Given the description of an element on the screen output the (x, y) to click on. 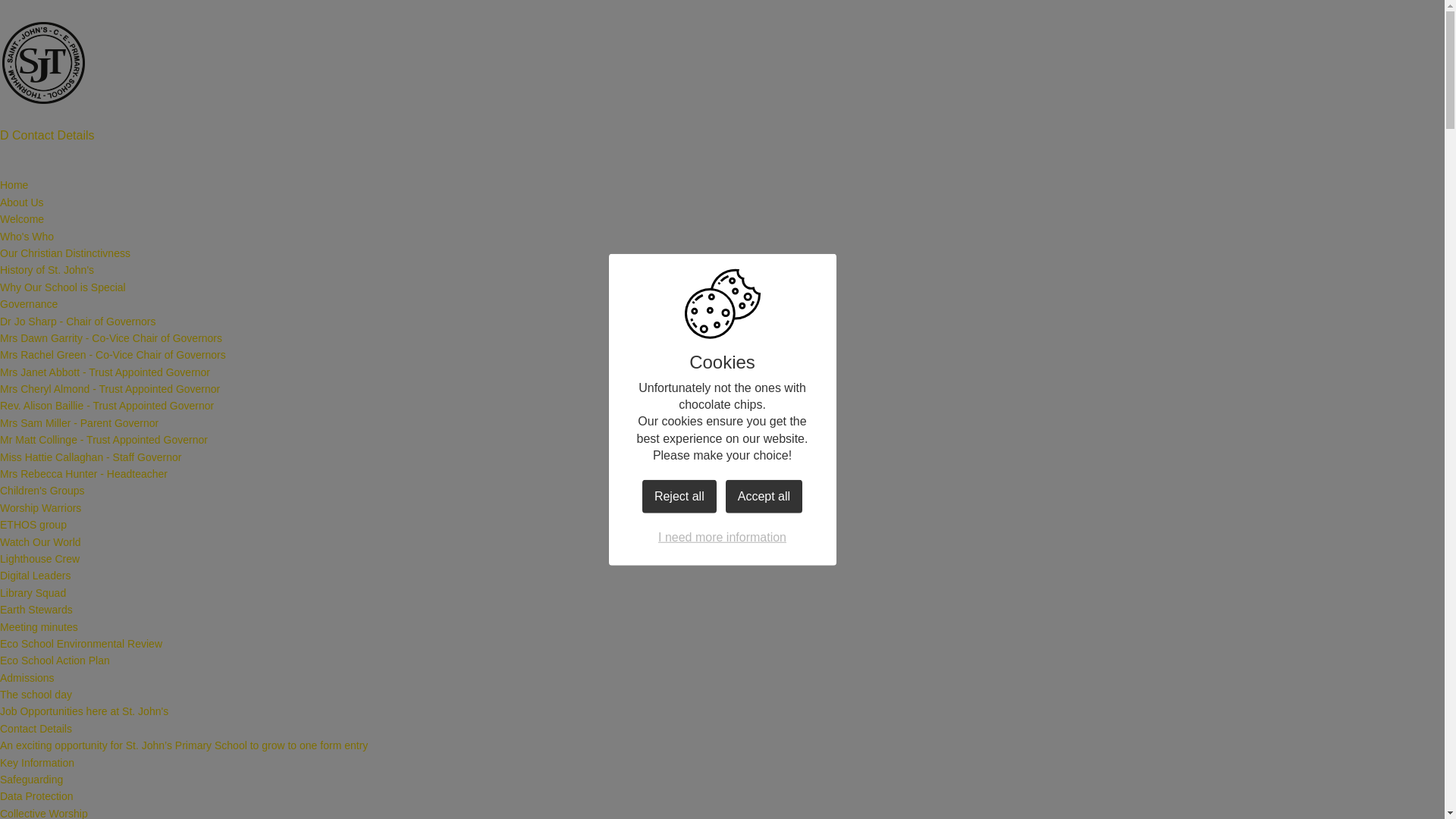
Mrs Rachel Green - Co-Vice Chair of Governors (112, 354)
Meeting minutes (39, 626)
Governance (29, 304)
Mrs Sam Miller - Parent Governor (79, 422)
Job Opportunities here at St. John's (84, 711)
Contact Details (35, 728)
Safeguarding (31, 779)
Eco School Action Plan (55, 660)
Welcome (21, 218)
Home Page (43, 63)
Mrs Dawn Garrity - Co-Vice Chair of Governors (111, 337)
Why Our School is Special (62, 287)
Children's Groups (42, 490)
Rev. Alison Baillie - Trust Appointed Governor (107, 405)
ETHOS group (33, 524)
